Given the description of an element on the screen output the (x, y) to click on. 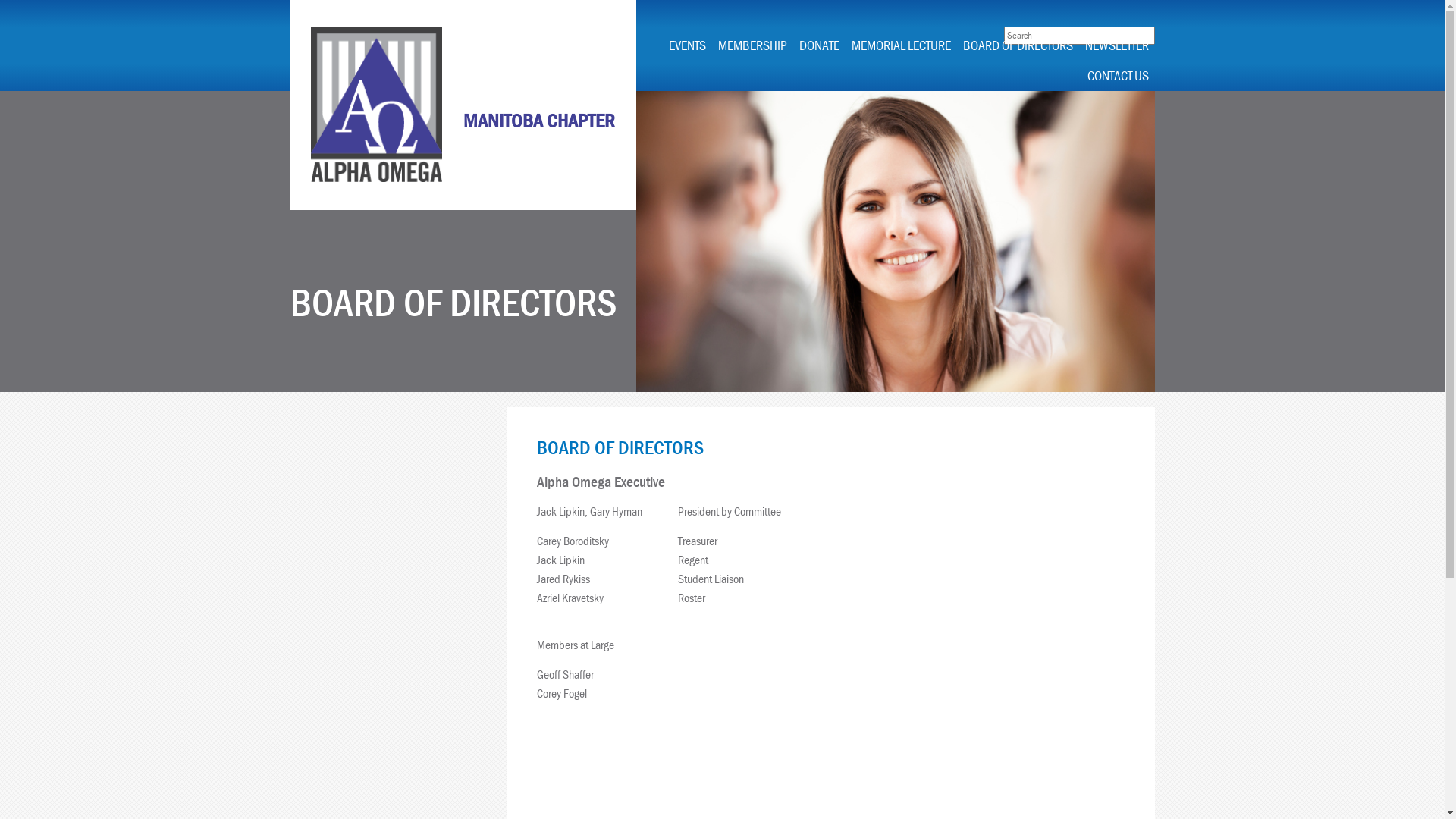
DONATE Element type: text (819, 44)
MEMBERSHIP Element type: text (751, 44)
EVENTS Element type: text (687, 44)
NEWSLETTER Element type: text (1116, 44)
CONTACT US Element type: text (1117, 75)
MEMORIAL LECTURE Element type: text (900, 44)
BOARD OF DIRECTORS Element type: text (1018, 44)
